Given the description of an element on the screen output the (x, y) to click on. 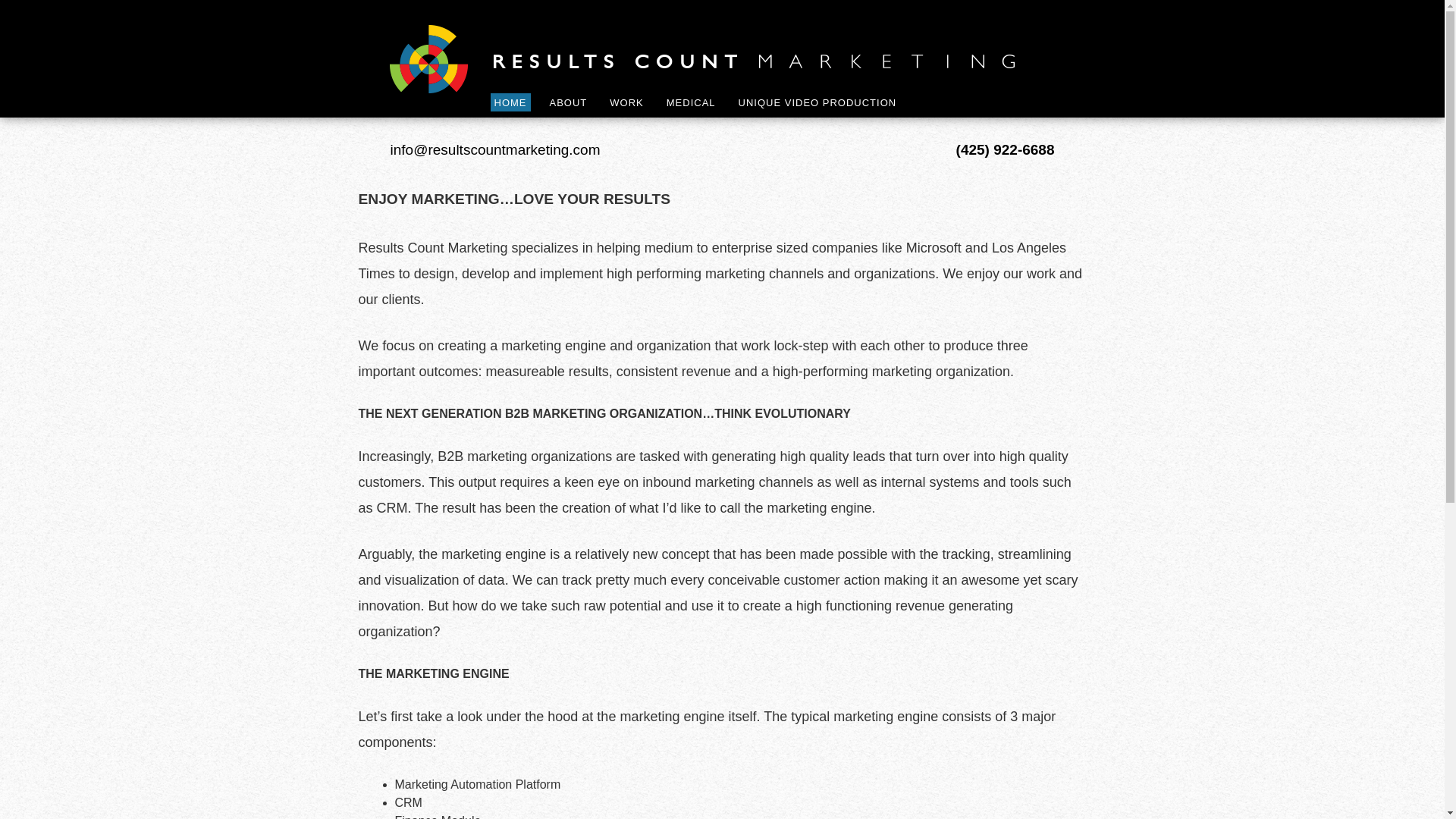
ABOUT (568, 102)
WORK (625, 102)
MEDICAL (690, 102)
HOME (509, 102)
UNIQUE VIDEO PRODUCTION (818, 102)
